Given the description of an element on the screen output the (x, y) to click on. 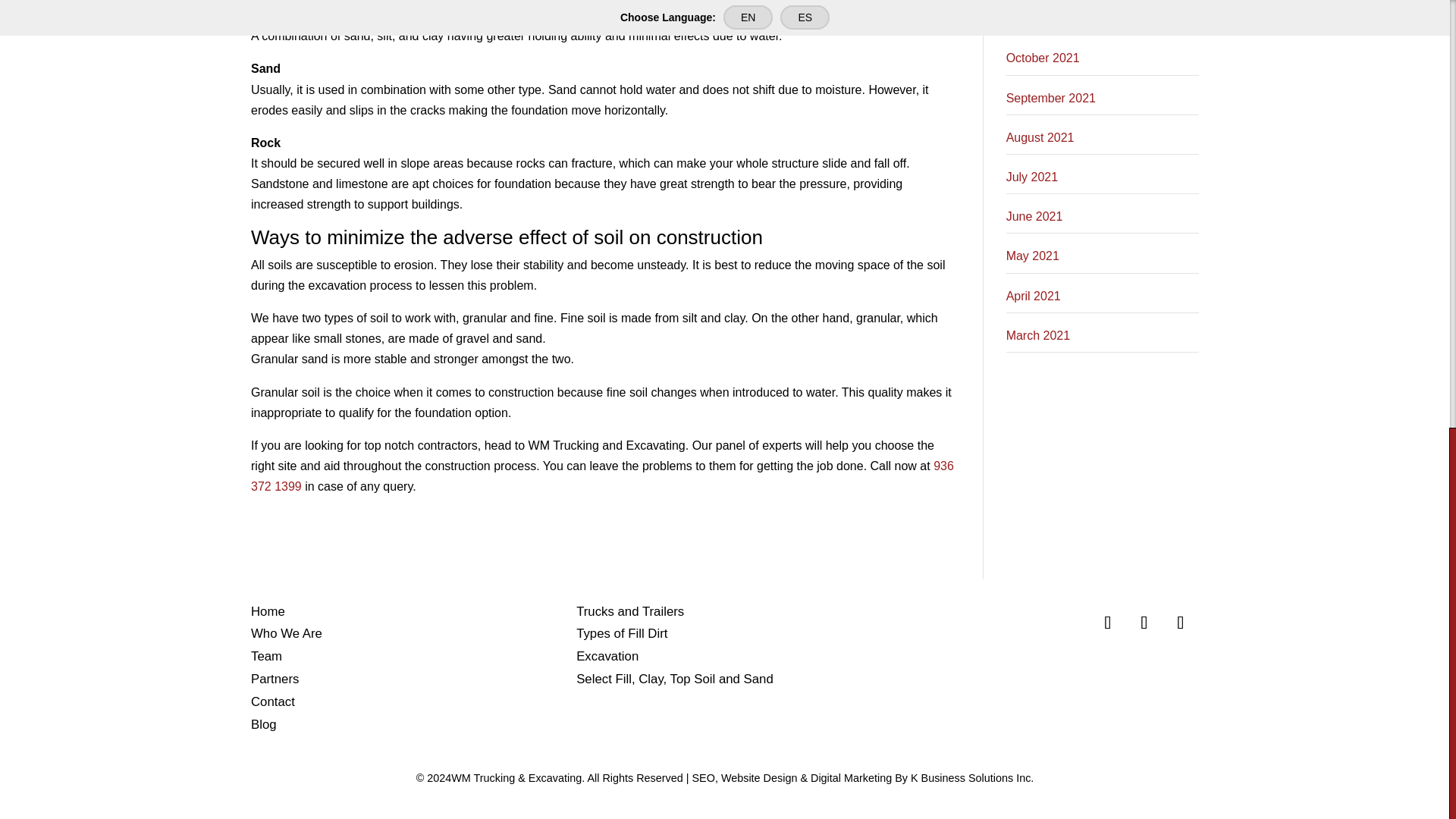
Follow on Facebook (1107, 620)
936 372 1399 (601, 476)
Follow on LinkedIn (1179, 620)
